Given the description of an element on the screen output the (x, y) to click on. 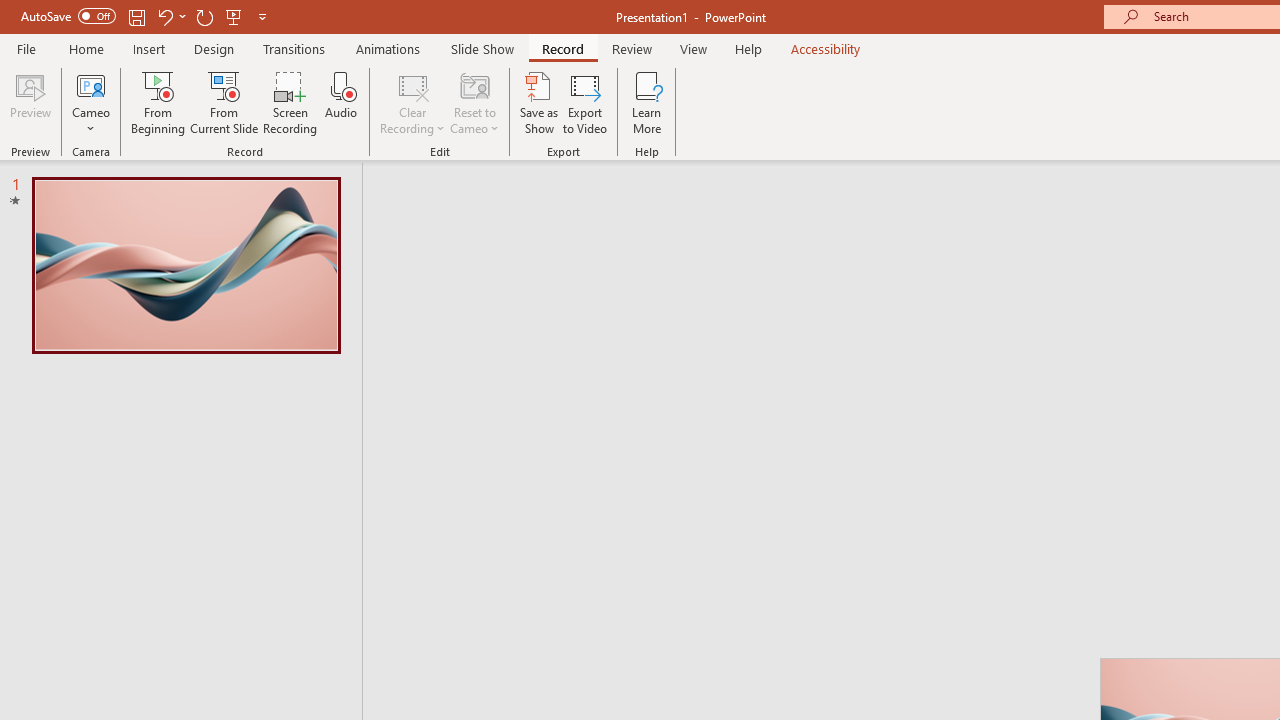
Clear Recording (412, 102)
From Current Slide... (224, 102)
Preview (30, 102)
Save as Show (539, 102)
Reset to Cameo (474, 102)
